Given the description of an element on the screen output the (x, y) to click on. 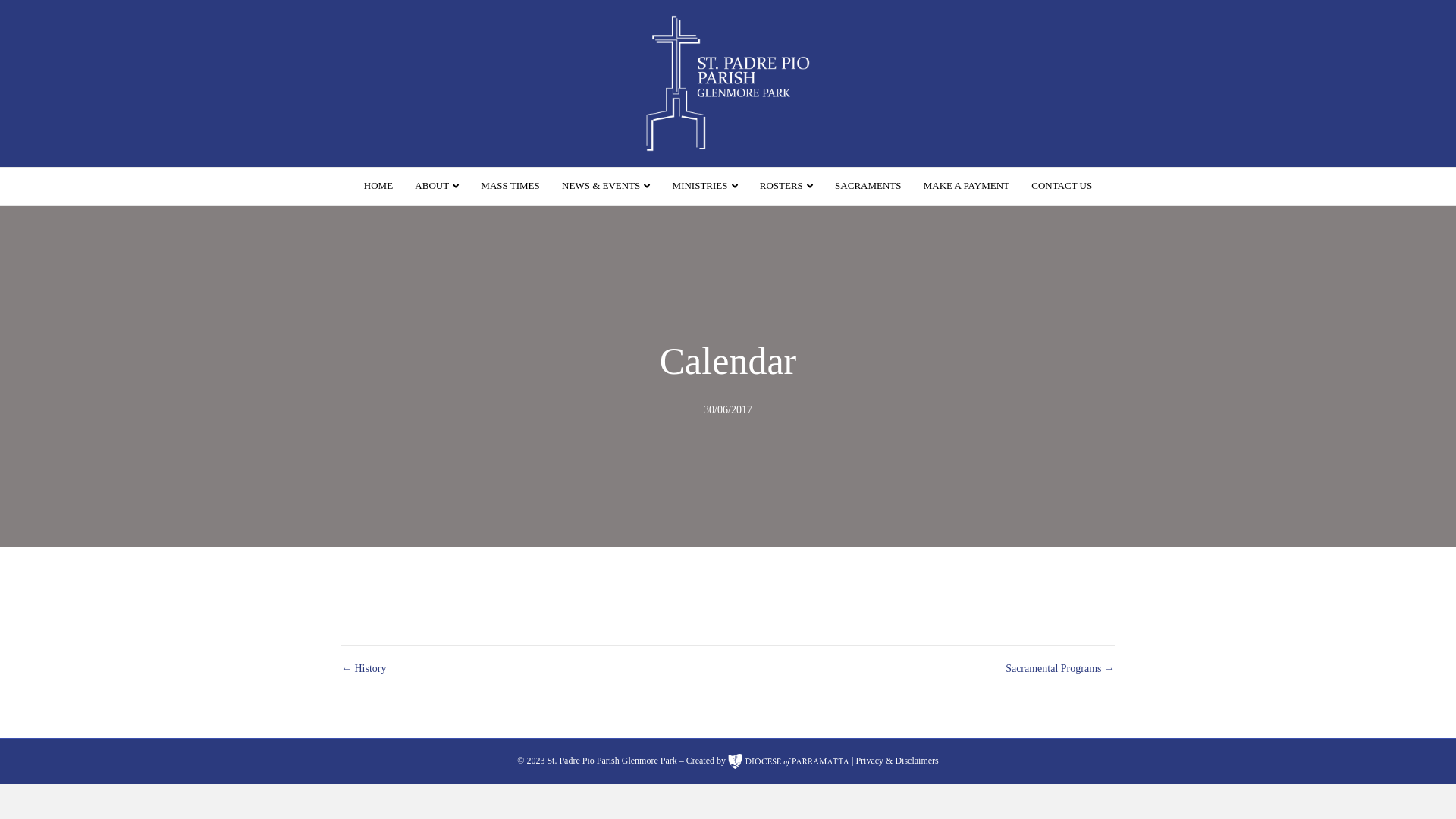
HOME Element type: text (378, 185)
ABOUT Element type: text (436, 185)
MINISTRIES Element type: text (704, 185)
SACRAMENTS Element type: text (867, 185)
ROSTERS Element type: text (785, 185)
NEWS & EVENTS Element type: text (605, 185)
MAKE A PAYMENT Element type: text (966, 185)
Privacy & Disclaimers Element type: text (896, 760)
CONTACT US Element type: text (1061, 185)
MASS TIMES Element type: text (509, 185)
The Official Website of the Diocese of Parramatta Element type: hover (788, 760)
